Given the description of an element on the screen output the (x, y) to click on. 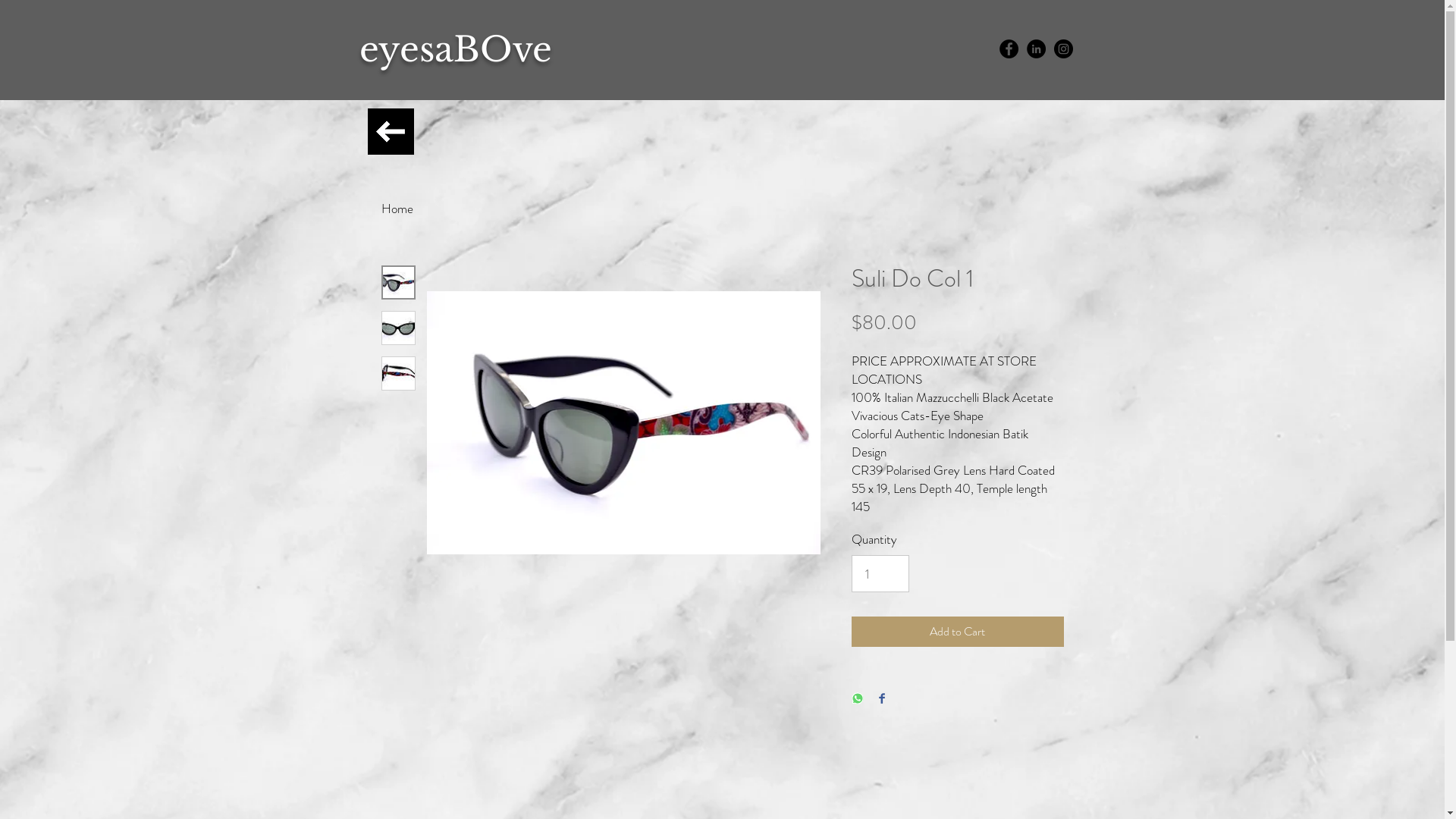
Add to Cart Element type: text (956, 631)
Home Element type: text (396, 208)
